Given the description of an element on the screen output the (x, y) to click on. 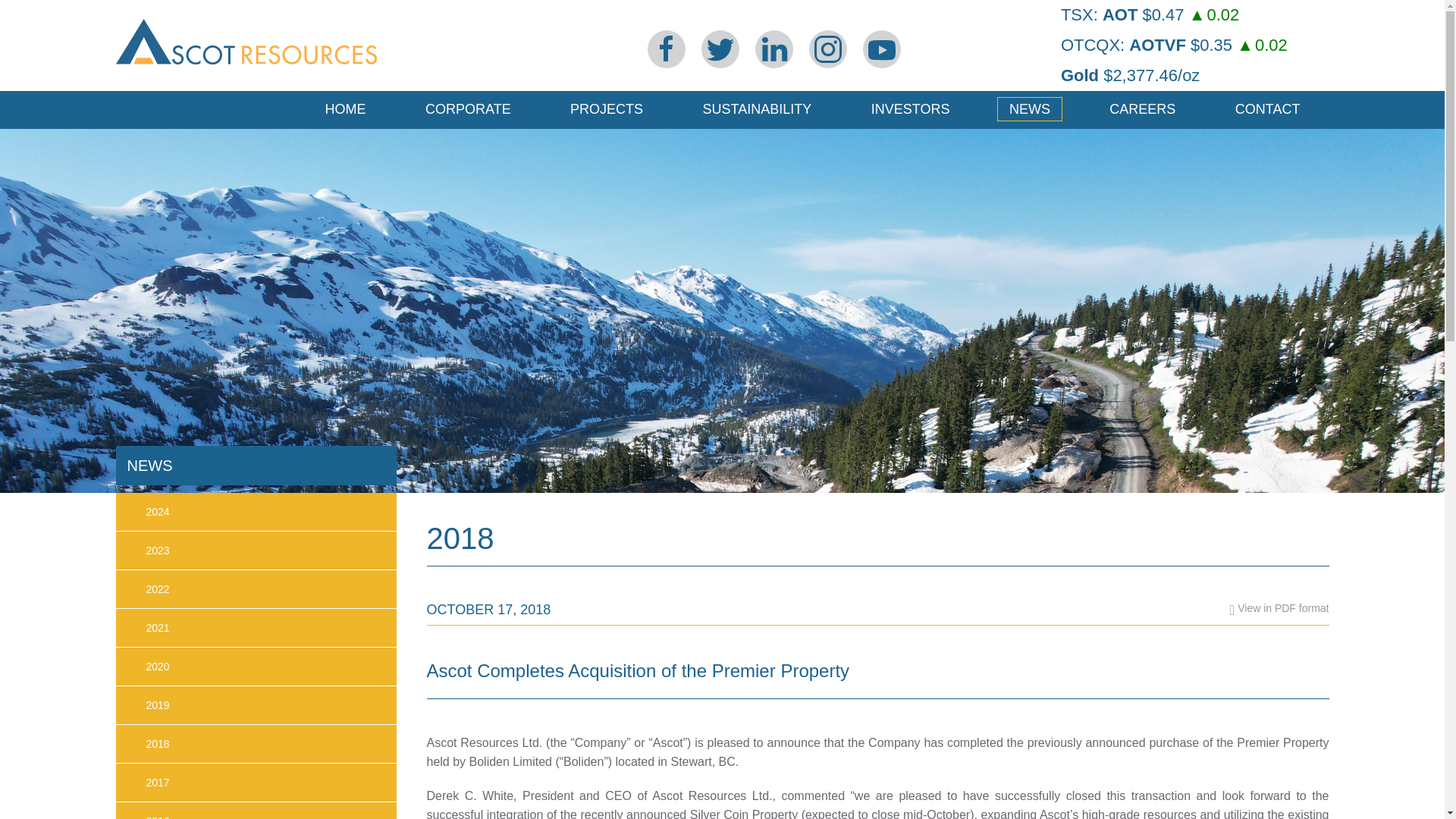
NEWS (1029, 109)
SUSTAINABILITY (757, 109)
INVESTORS (910, 109)
PROJECTS (606, 109)
Visit our LinkedIn Page (774, 48)
Visit our Twitter Page (720, 48)
Visit our YouTube Page (882, 48)
Back to Home Page (245, 9)
HOME (345, 109)
Visit our Instagram Page (828, 48)
Visit our Facebook Page (666, 48)
CORPORATE (467, 109)
